Given the description of an element on the screen output the (x, y) to click on. 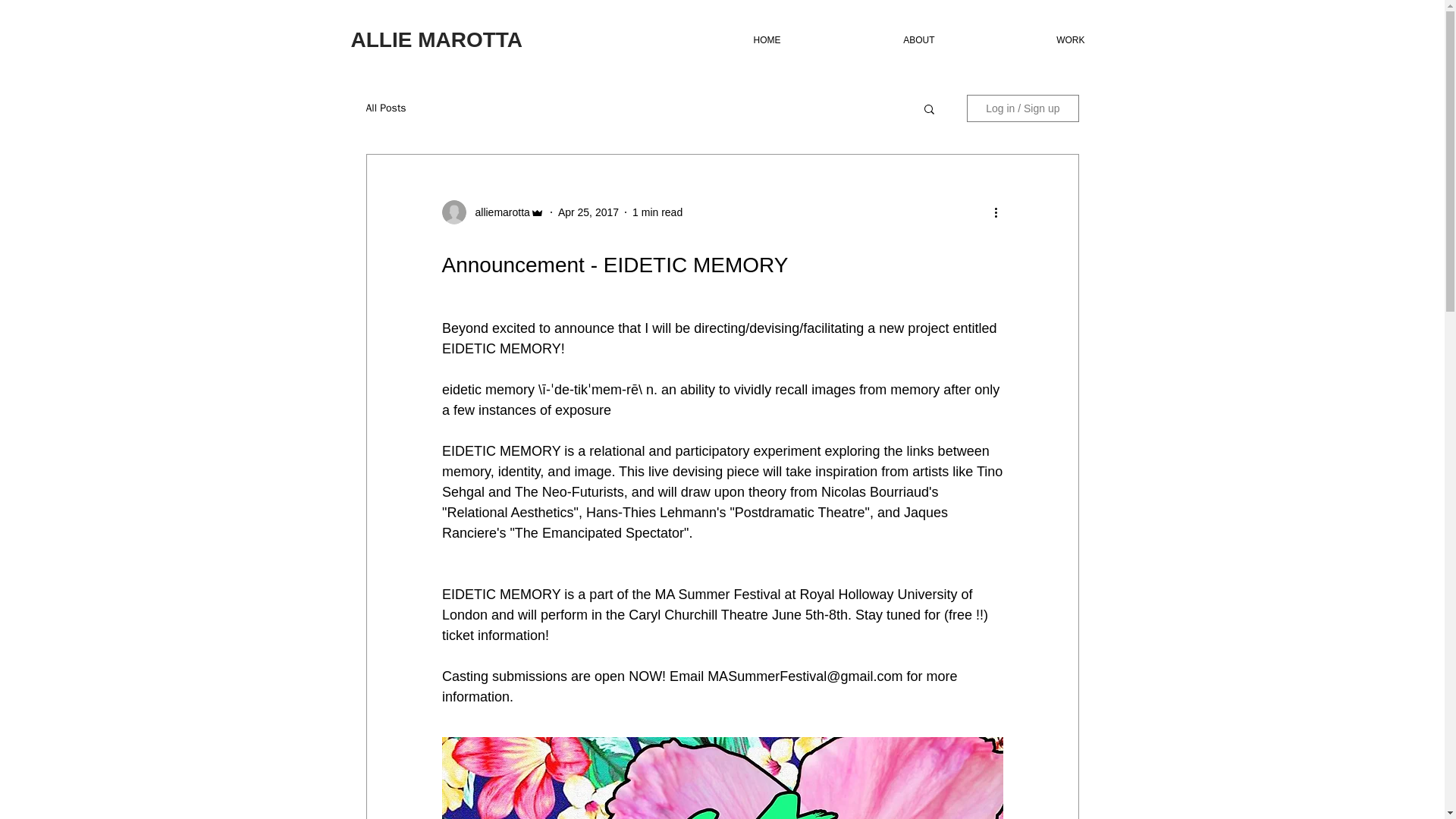
WORK (1022, 40)
Apr 25, 2017 (587, 212)
All Posts (385, 108)
alliemarotta (497, 212)
HOME (718, 40)
1 min read (656, 212)
ABOUT (870, 40)
